Given the description of an element on the screen output the (x, y) to click on. 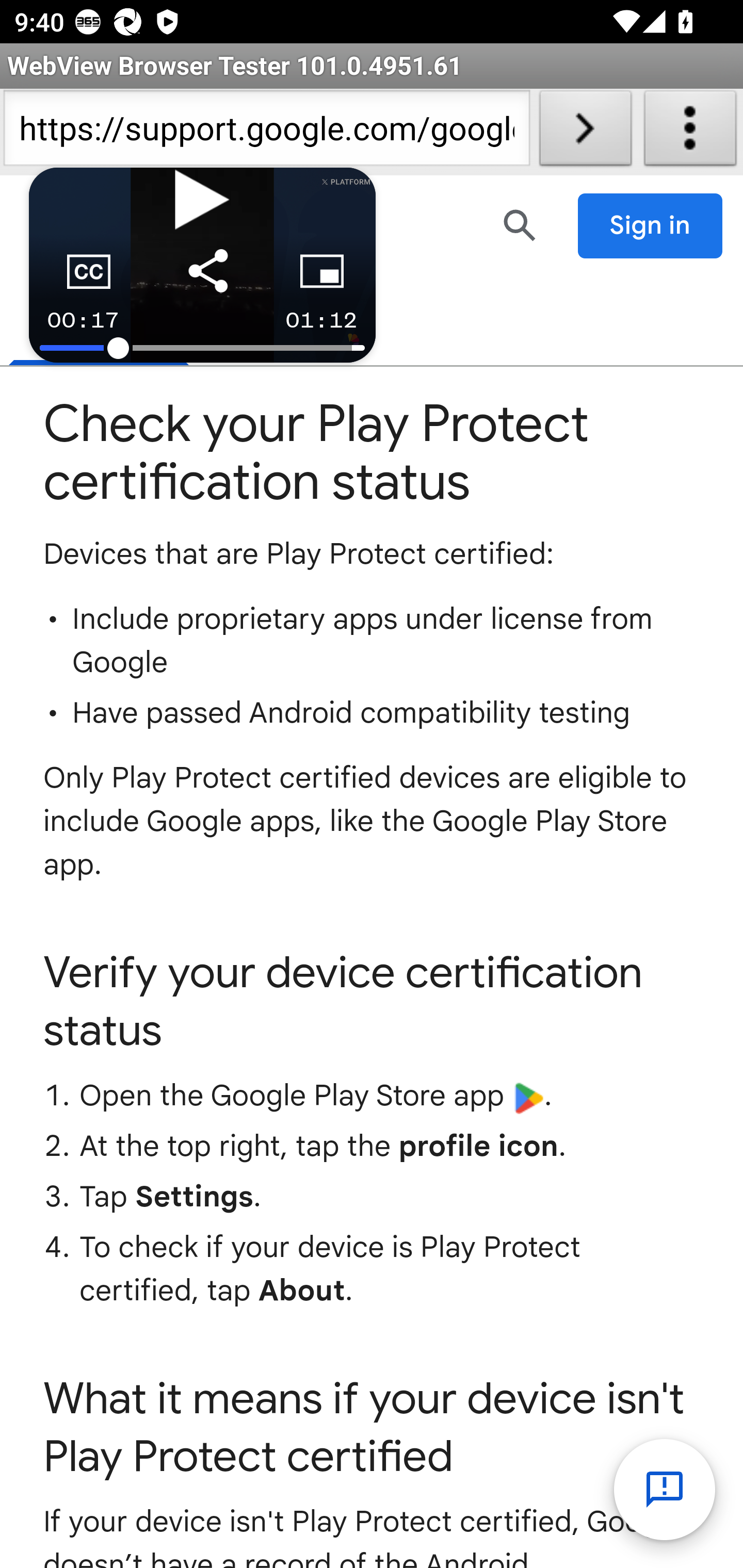
Load URL (585, 132)
About WebView (690, 132)
Search Help Center (519, 225)
Sign in (650, 226)
